Given the description of an element on the screen output the (x, y) to click on. 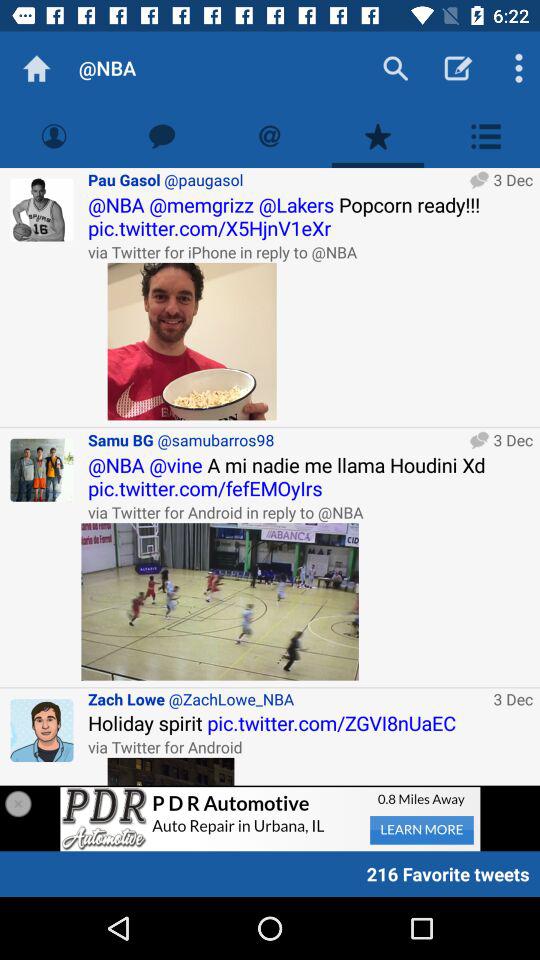
tap the icon above the pau gasol @paugasol icon (270, 136)
